Given the description of an element on the screen output the (x, y) to click on. 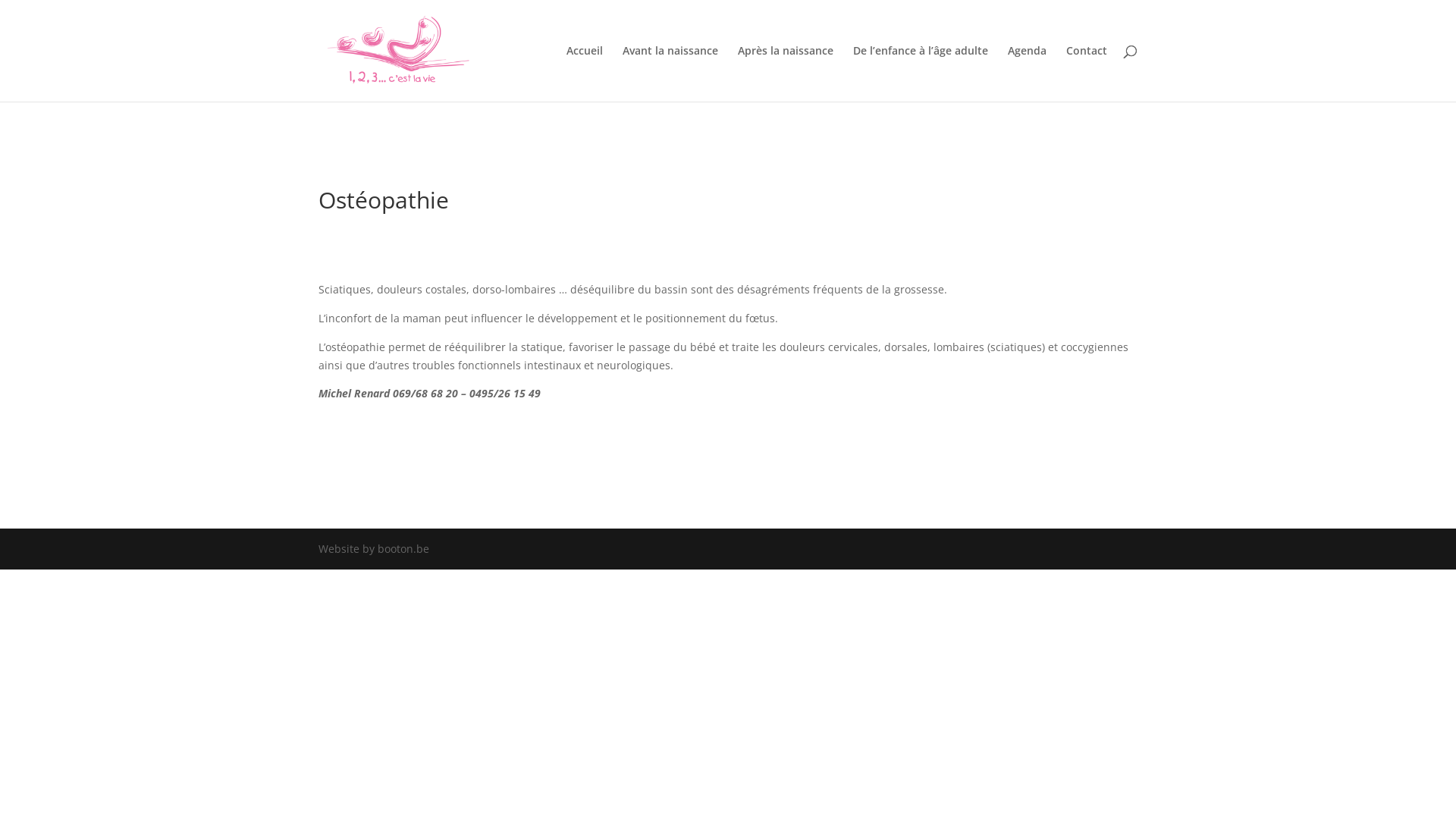
Agenda Element type: text (1026, 73)
Avant la naissance Element type: text (670, 73)
Accueil Element type: text (584, 73)
Contact Element type: text (1086, 73)
